Given the description of an element on the screen output the (x, y) to click on. 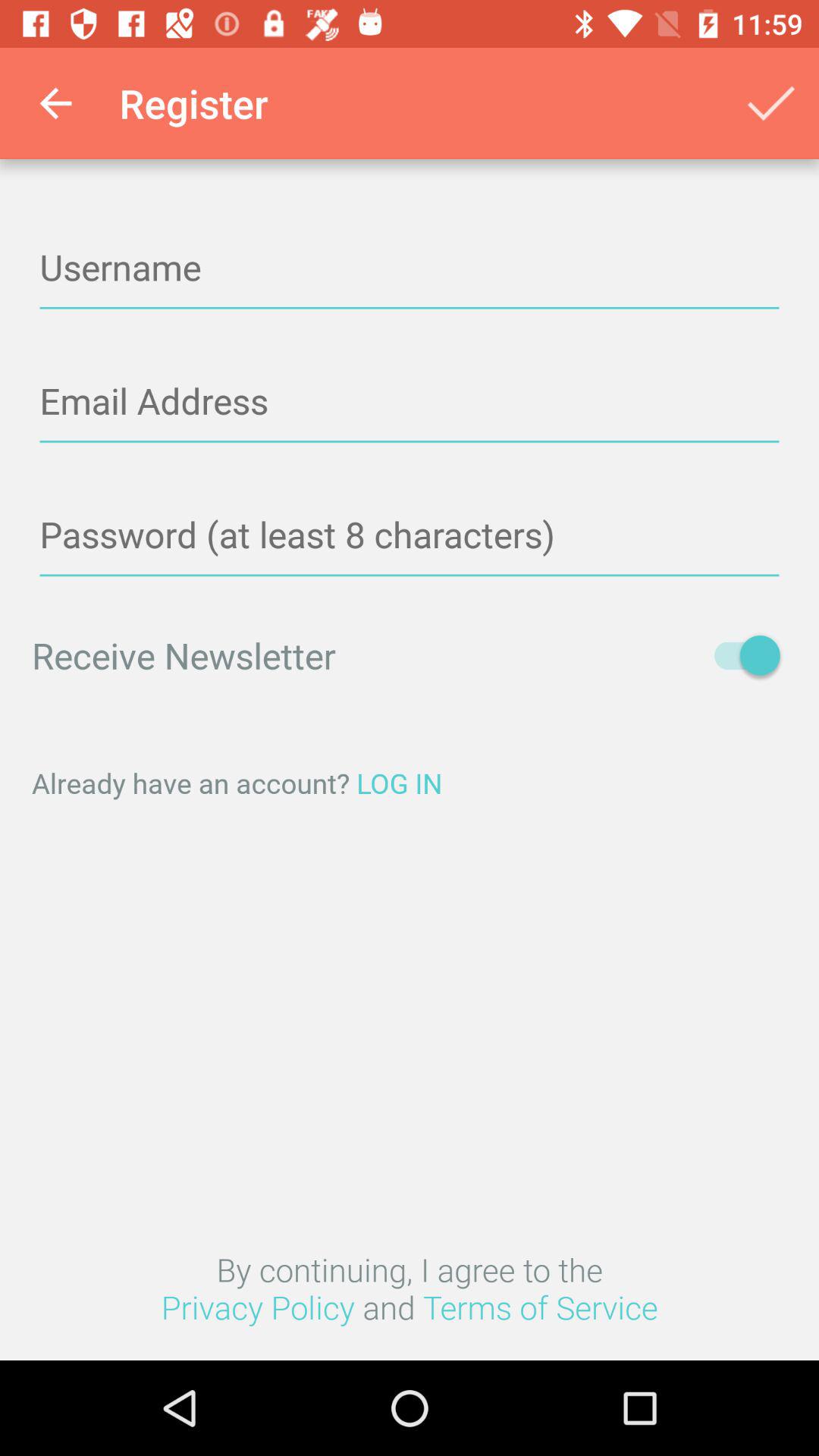
launch the icon next to the register (55, 103)
